Given the description of an element on the screen output the (x, y) to click on. 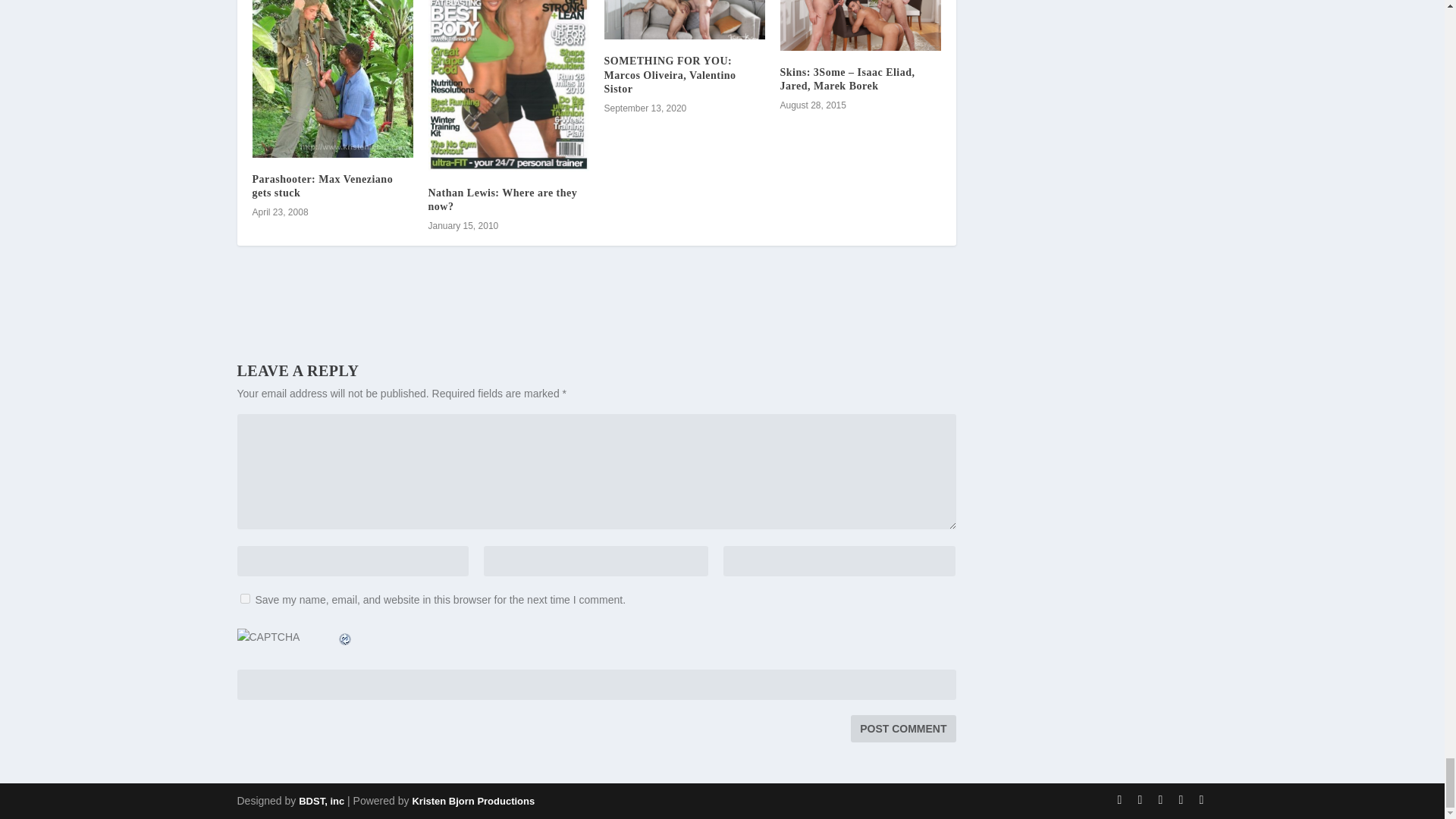
Post Comment (902, 728)
yes (244, 598)
